Given the description of an element on the screen output the (x, y) to click on. 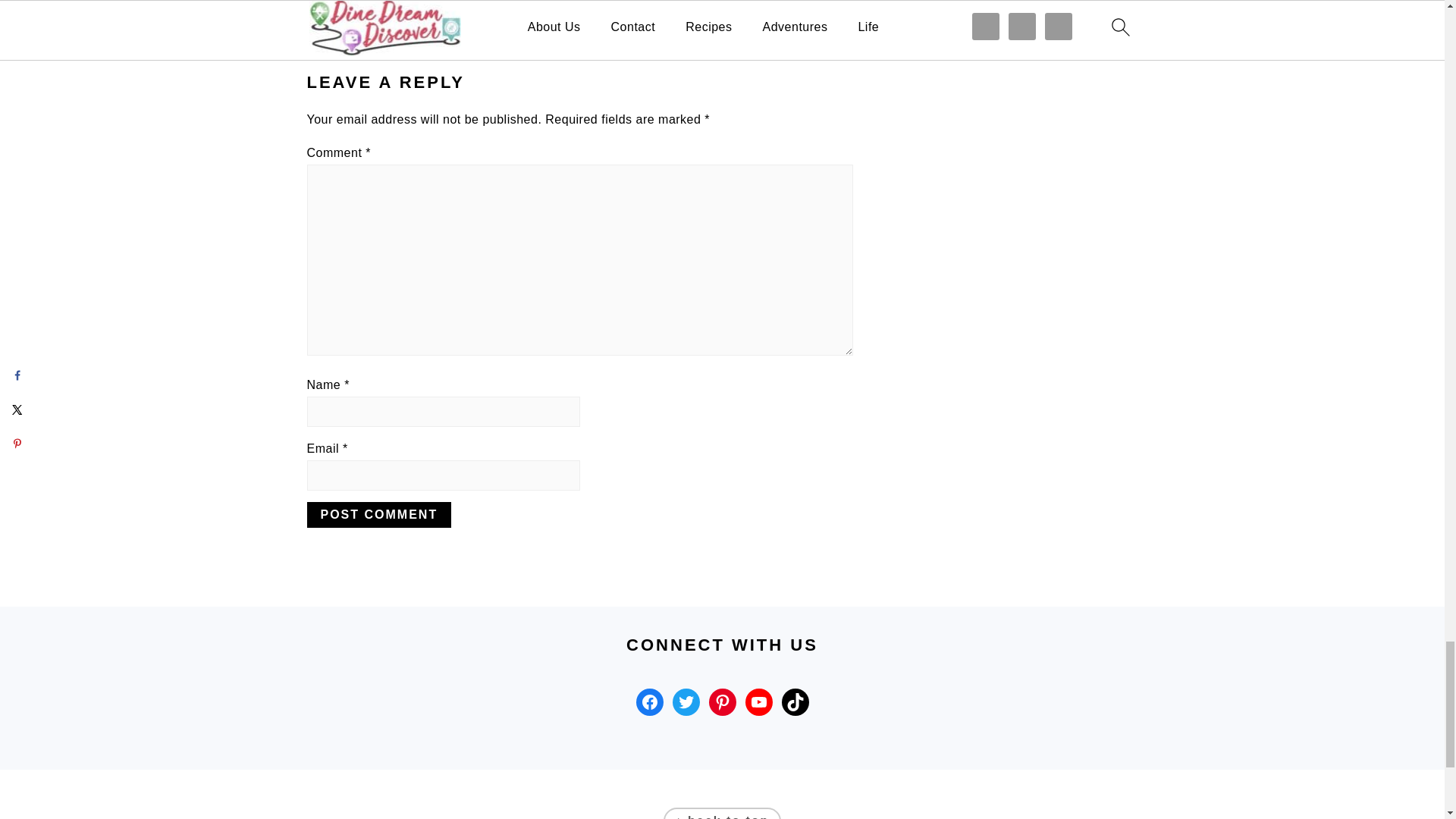
Post Comment (378, 514)
